Given the description of an element on the screen output the (x, y) to click on. 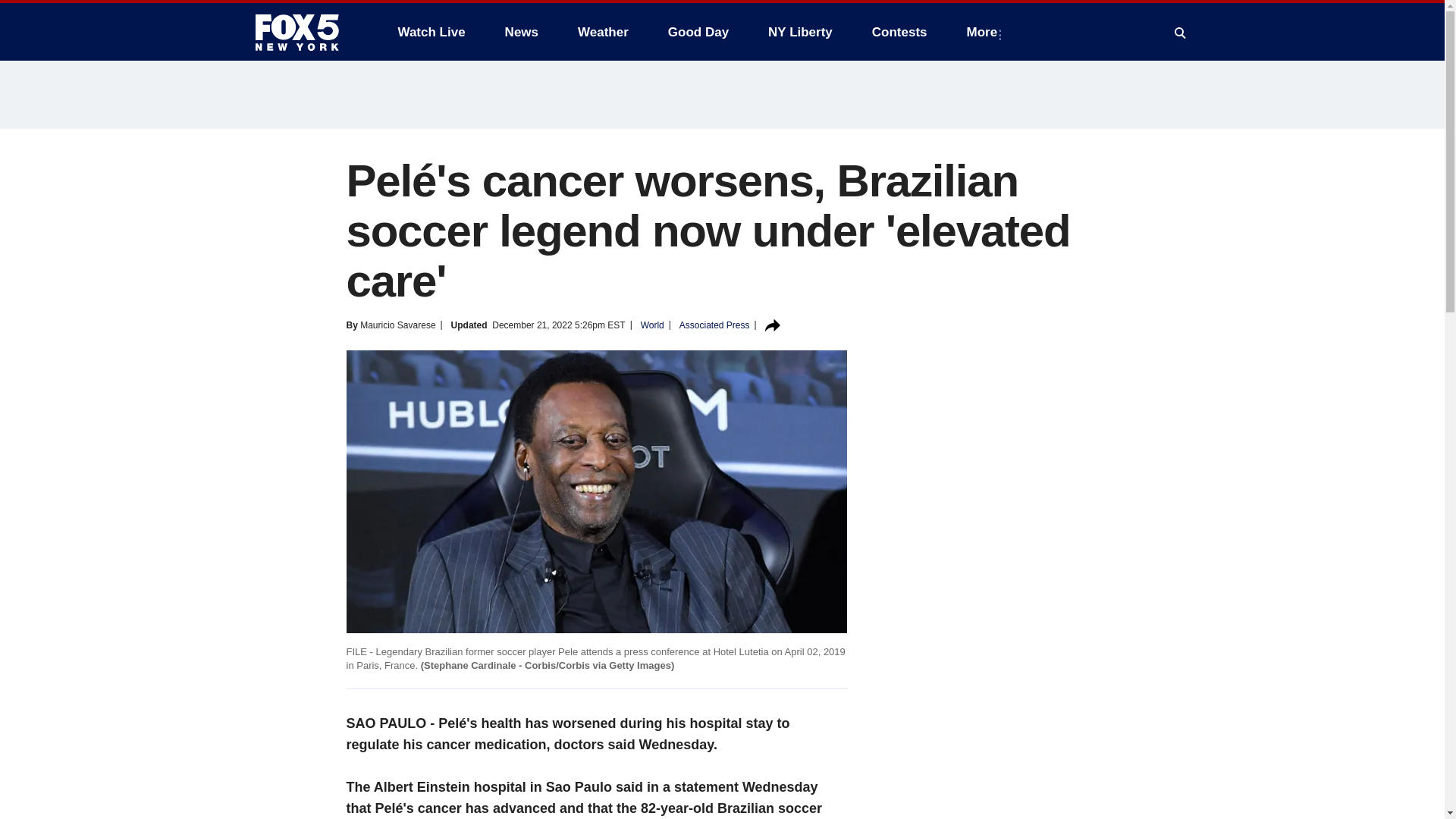
Watch Live (431, 32)
Contests (899, 32)
Weather (603, 32)
News (521, 32)
Good Day (698, 32)
NY Liberty (799, 32)
More (985, 32)
